Given the description of an element on the screen output the (x, y) to click on. 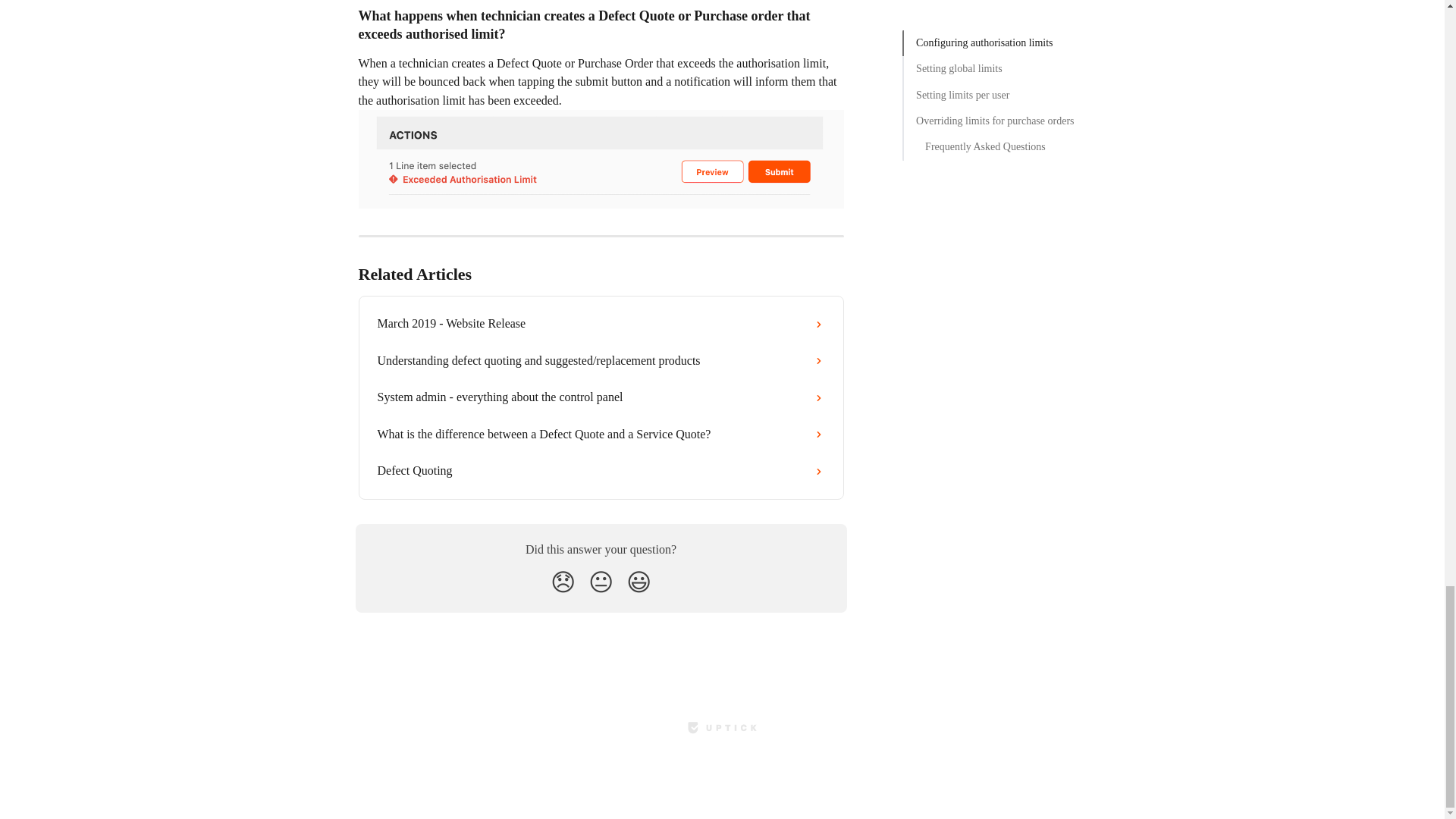
March 2019 - Website Release (601, 323)
Defect Quoting (601, 470)
Disappointed (562, 582)
Smiley (638, 582)
Neutral (600, 582)
System admin - everything about the control panel (601, 397)
